Given the description of an element on the screen output the (x, y) to click on. 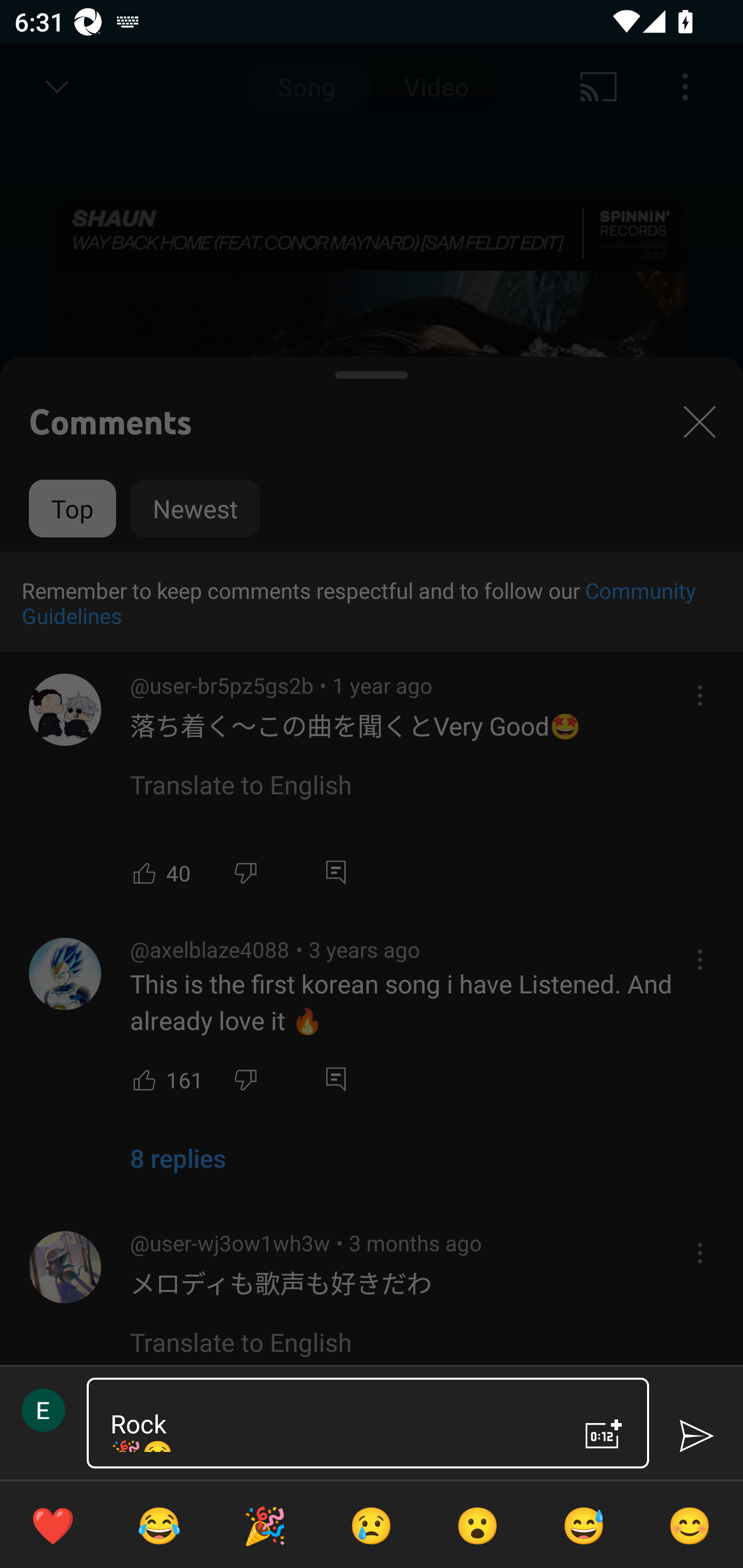
Rock
🎉😢 (329, 1422)
Add a timestamp (603, 1433)
Send comment (695, 1436)
❤ (53, 1524)
😂 (158, 1524)
🎉 (264, 1524)
😢 (371, 1524)
😮 (477, 1524)
😅 (583, 1524)
😊 (689, 1524)
